Given the description of an element on the screen output the (x, y) to click on. 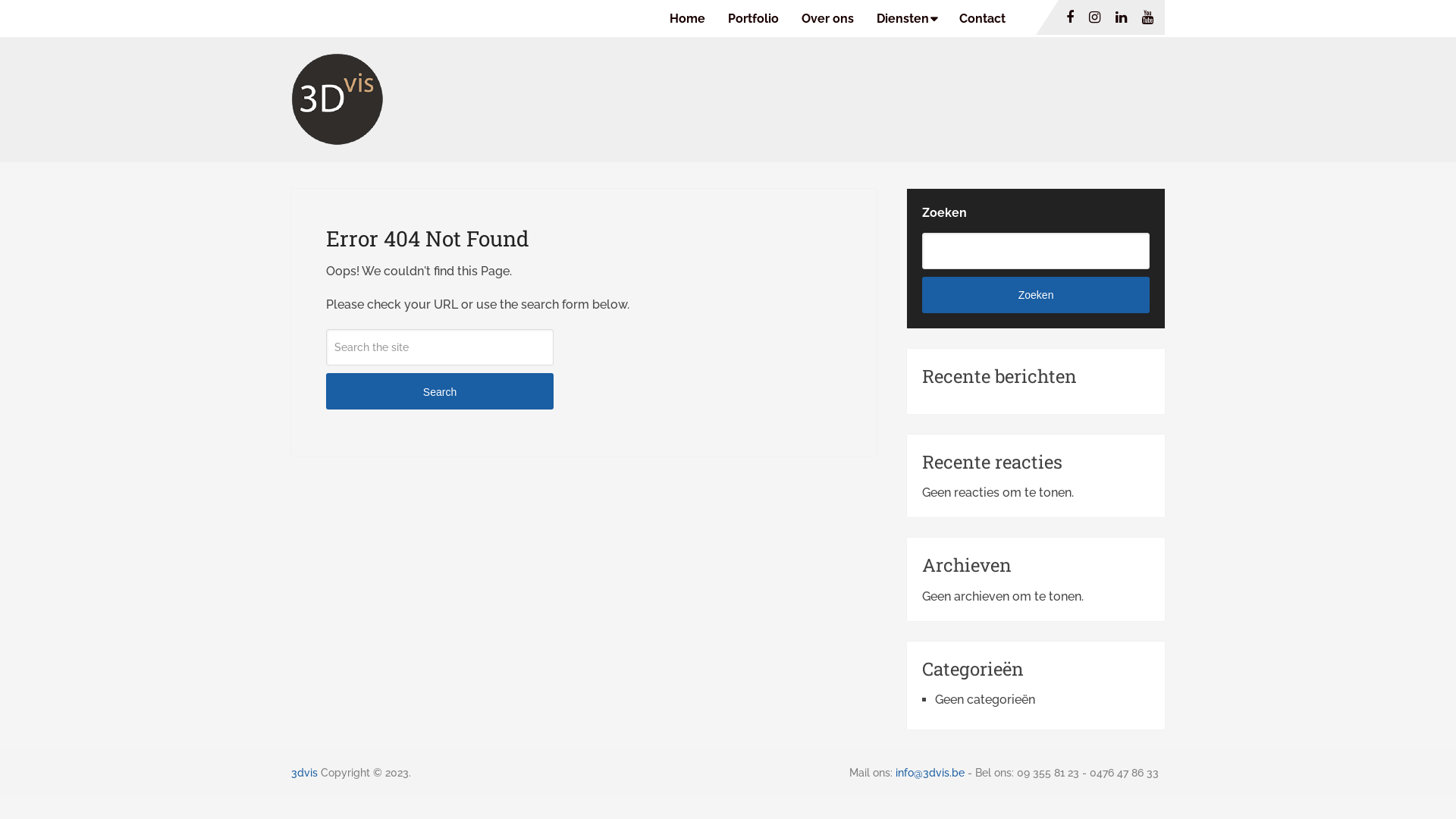
Contact Element type: text (981, 18)
Home Element type: text (692, 18)
info@3dvis.be Element type: text (929, 772)
3dvis Element type: text (304, 772)
Over ons Element type: text (827, 18)
Portfolio Element type: text (753, 18)
Zoeken Element type: text (1035, 294)
Diensten Element type: text (906, 18)
Search Element type: text (439, 391)
